Given the description of an element on the screen output the (x, y) to click on. 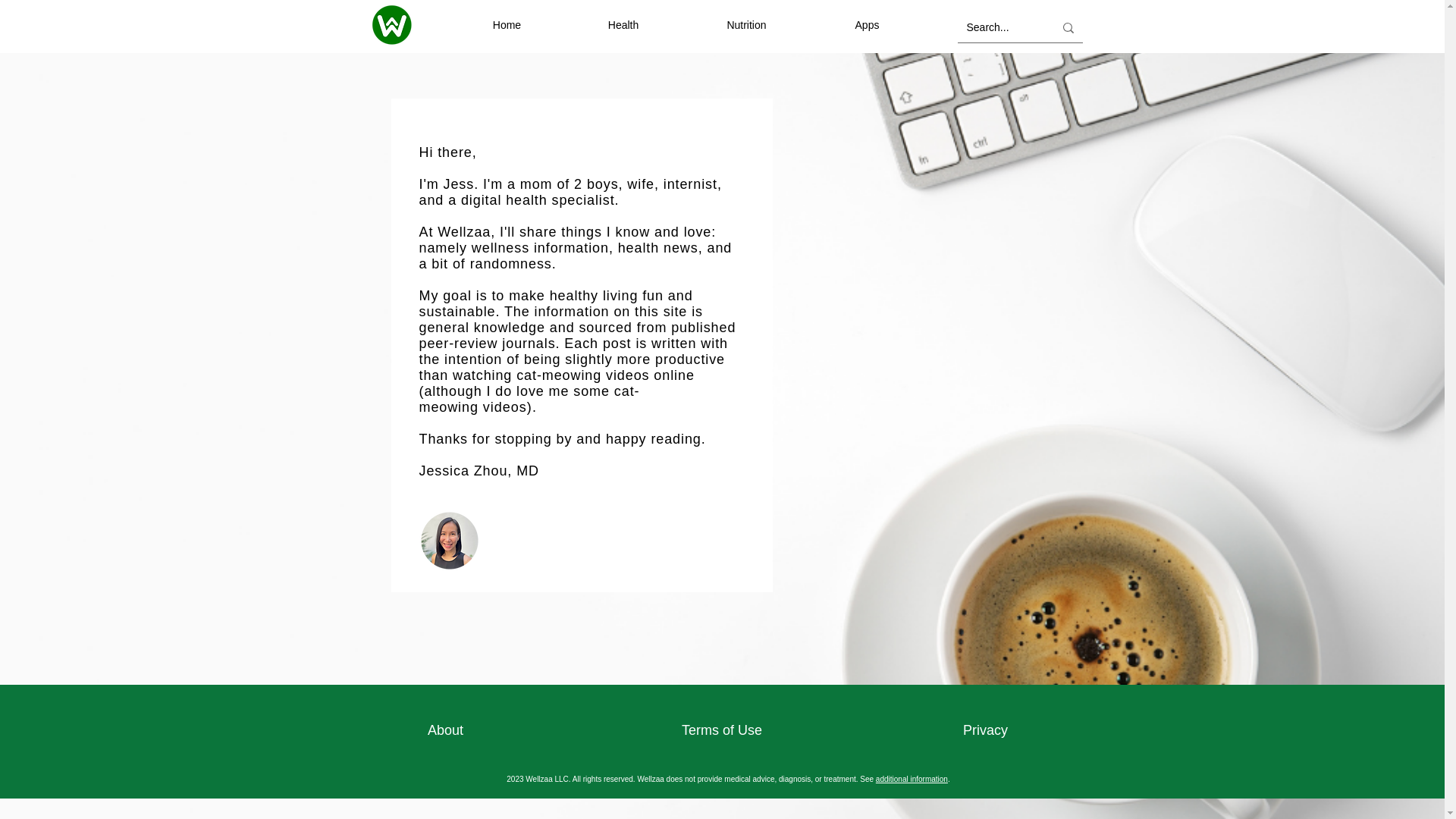
additional information (911, 778)
Health (622, 25)
Privacy (984, 730)
About (445, 730)
Terms of Use (721, 730)
Nutrition (746, 25)
Home (506, 25)
Apps (866, 25)
